Given the description of an element on the screen output the (x, y) to click on. 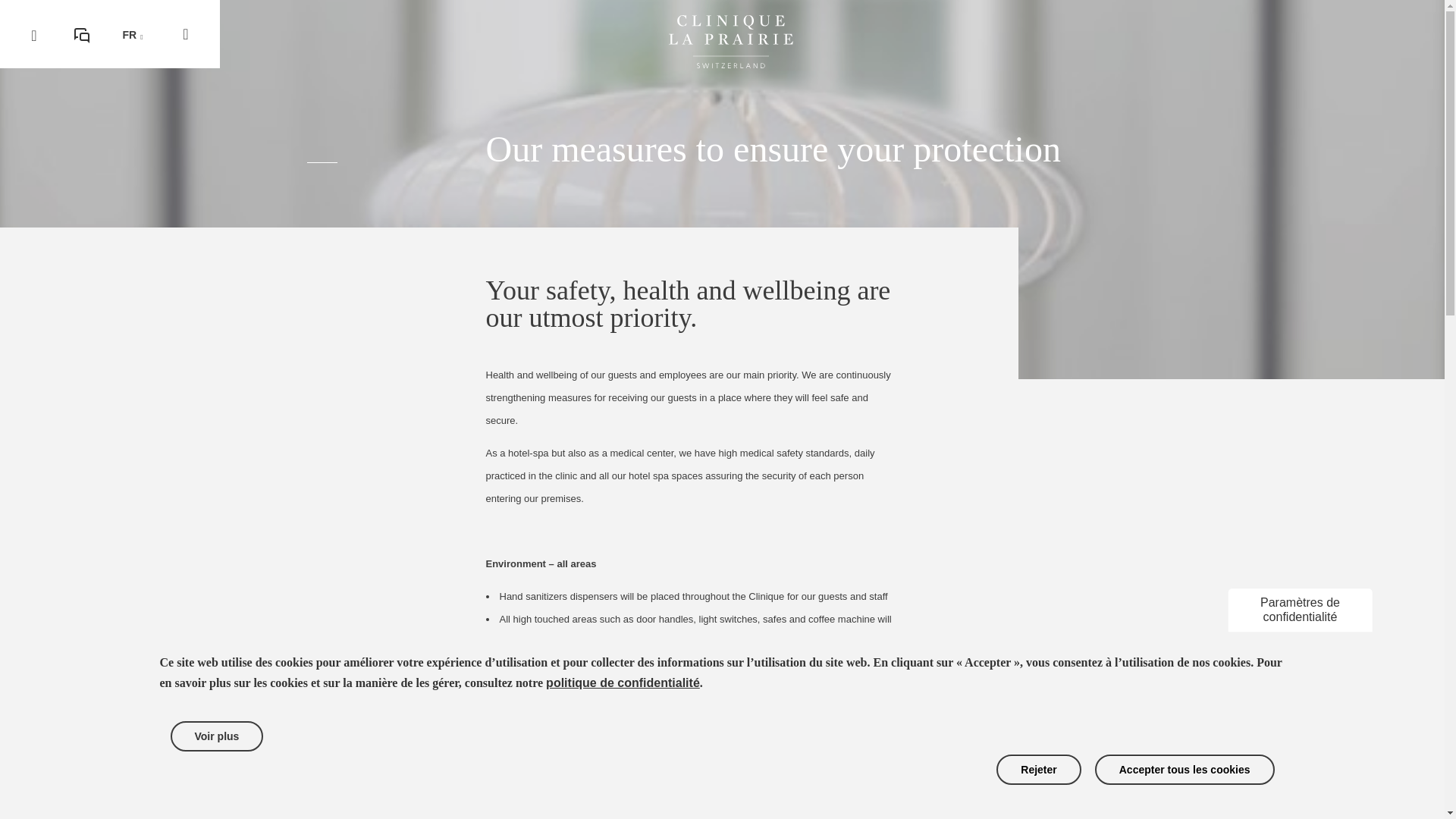
Home (730, 64)
